Given the description of an element on the screen output the (x, y) to click on. 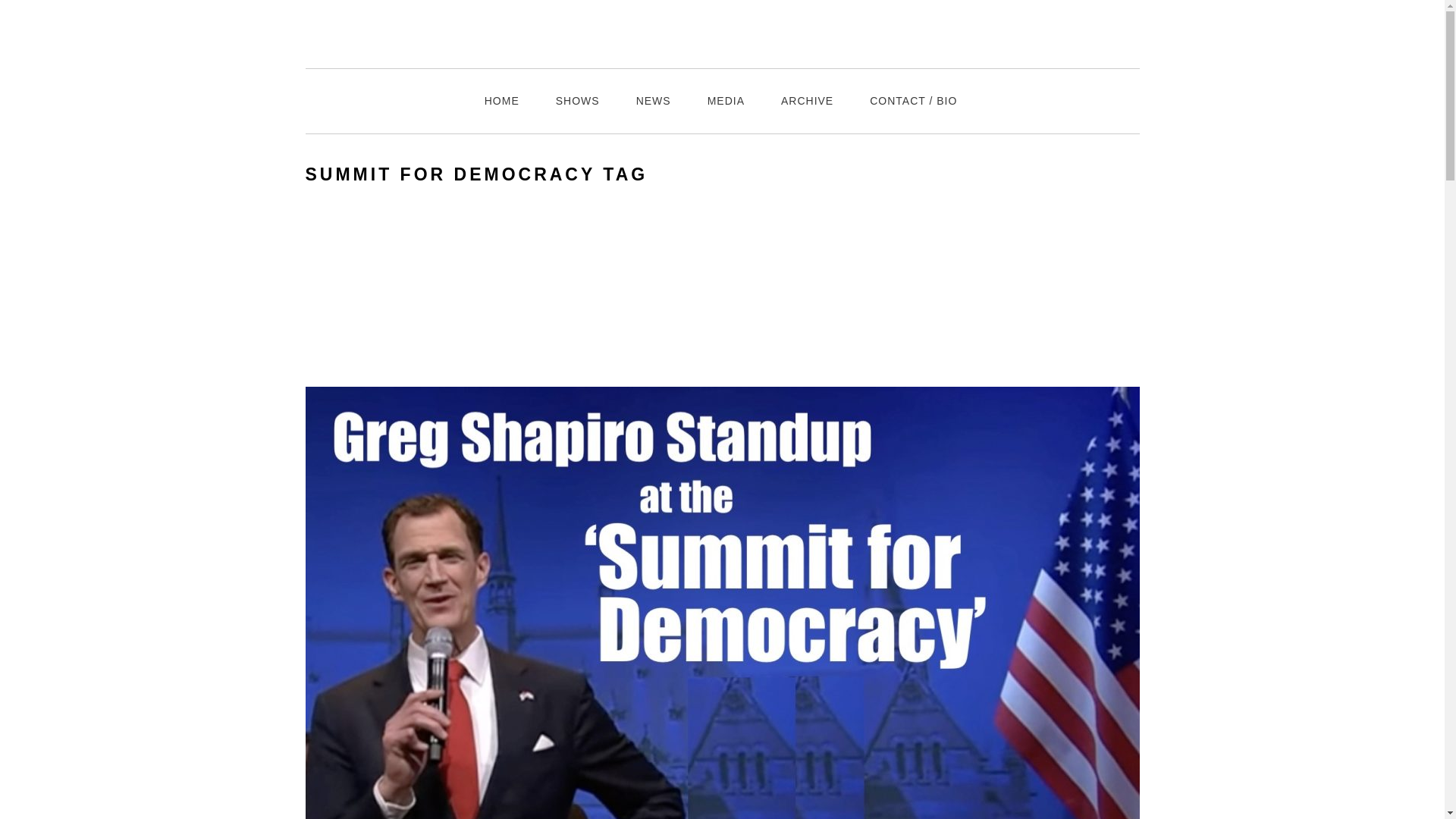
HOME (501, 100)
NEWS (652, 100)
MEDIA (725, 100)
ARCHIVE (806, 100)
SHOWS (577, 100)
